Given the description of an element on the screen output the (x, y) to click on. 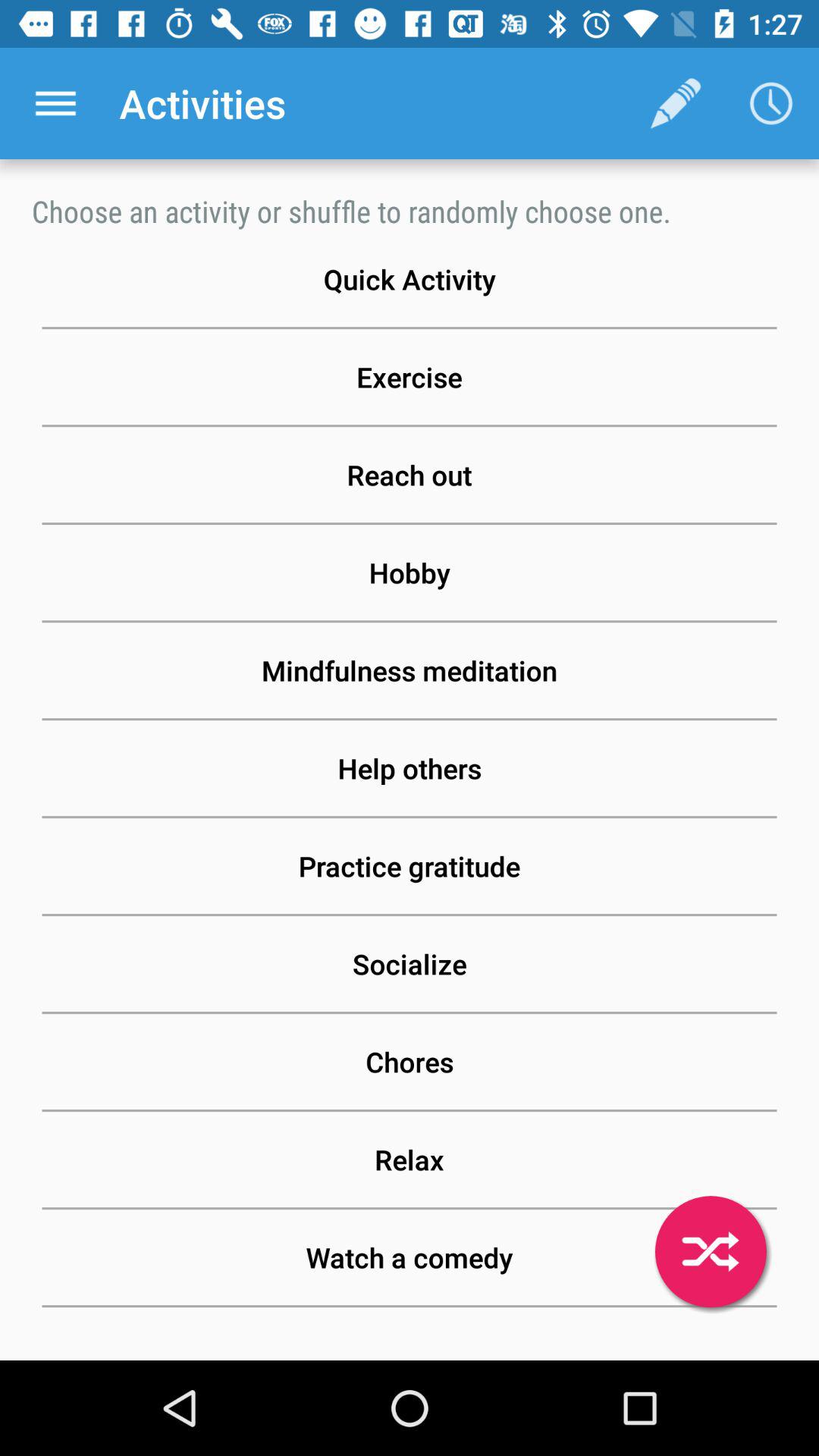
jump to watch a comedy icon (409, 1257)
